Given the description of an element on the screen output the (x, y) to click on. 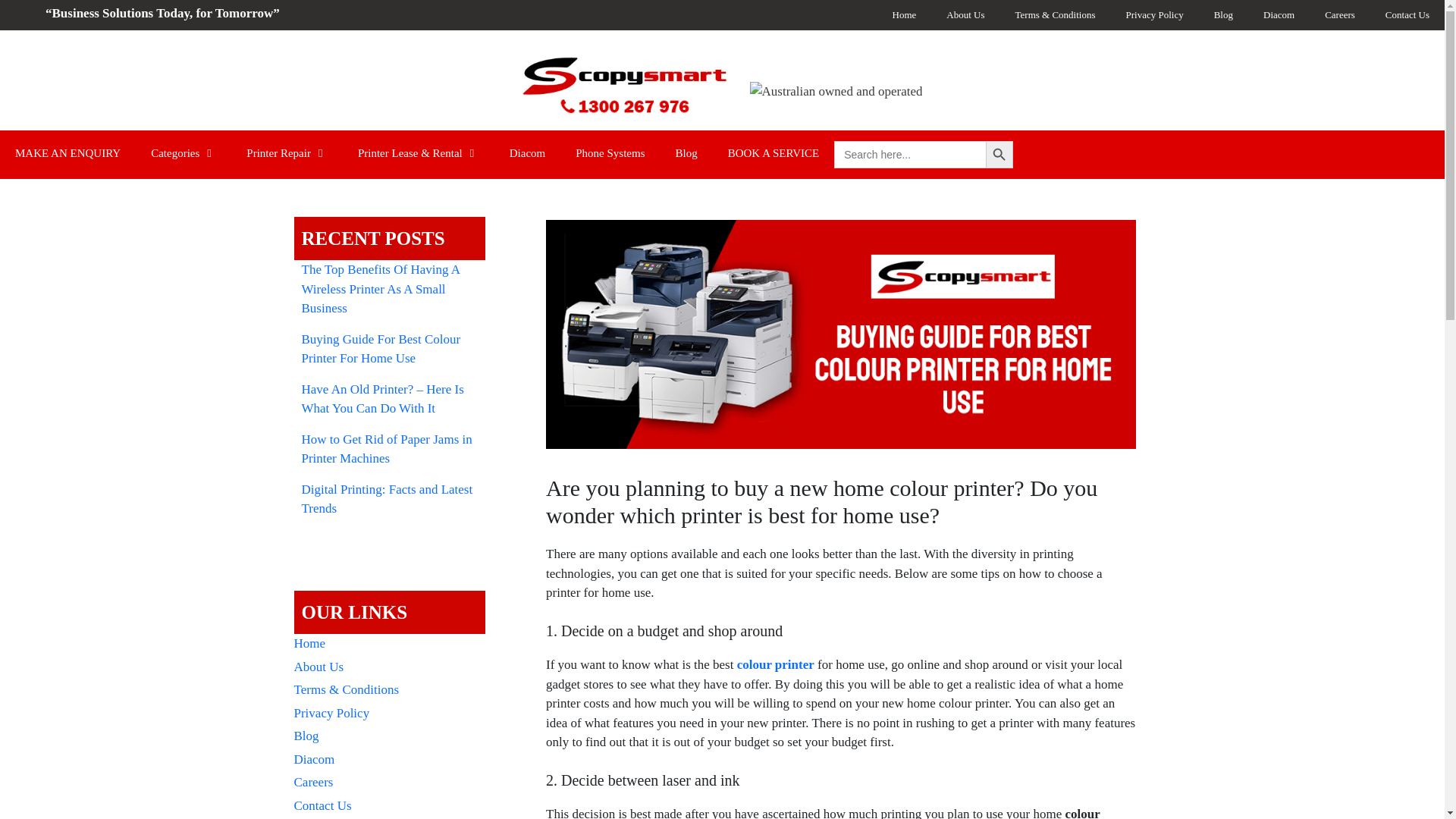
Blog (1222, 15)
About Us (964, 15)
Diacom (1277, 15)
Careers (1339, 15)
Privacy Policy (1154, 15)
Home (904, 15)
